Given the description of an element on the screen output the (x, y) to click on. 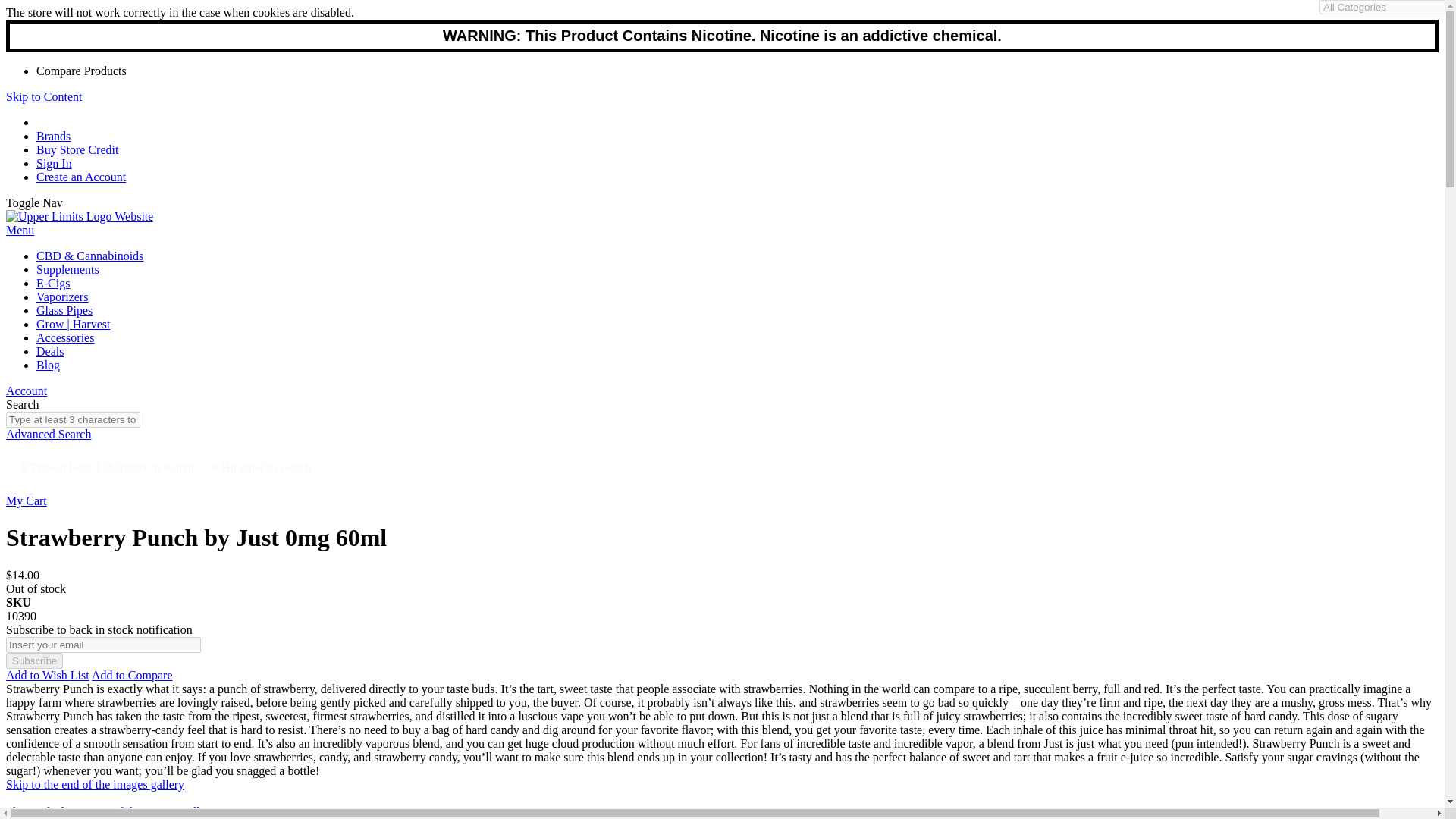
Buy Store Credit (76, 149)
Skip to Content (43, 96)
Create an Account (80, 176)
Supplements (67, 269)
E-Cigs (52, 282)
Upper Limits Logo Website (78, 215)
Upper Limits Logo Website (78, 216)
Compare Products (81, 70)
Menu (19, 229)
Brands (52, 135)
Sign In (53, 163)
Compare Products (81, 70)
